Given the description of an element on the screen output the (x, y) to click on. 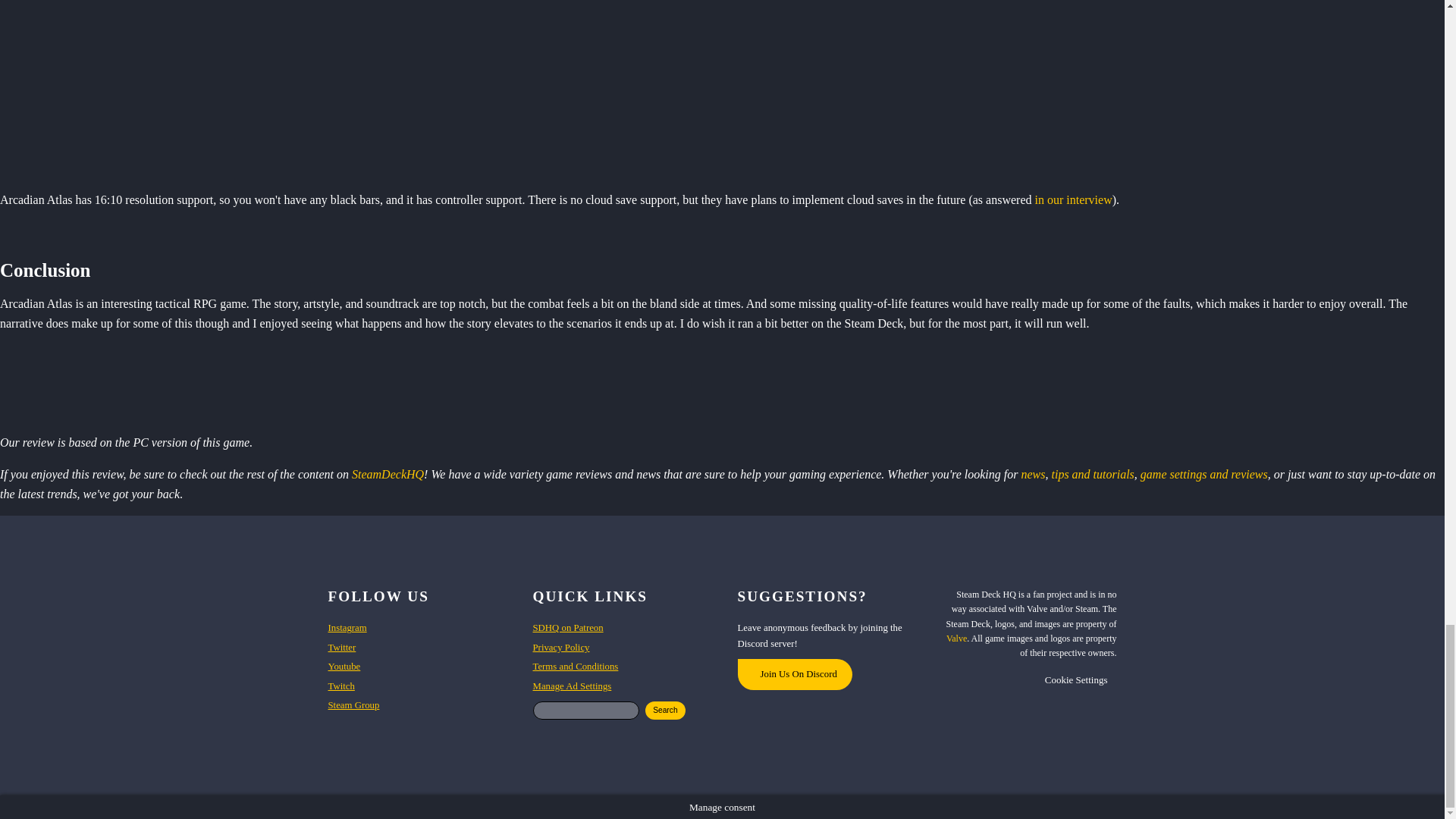
Valve (956, 638)
Cookie Settings (1075, 679)
game settings and reviews (1204, 473)
Youtube (343, 666)
tips and tutorials (1092, 473)
Search (665, 710)
Steam Group (352, 704)
Join Us On Discord (793, 674)
news (1032, 473)
Arcadian Atlas 9 (721, 87)
